Given the description of an element on the screen output the (x, y) to click on. 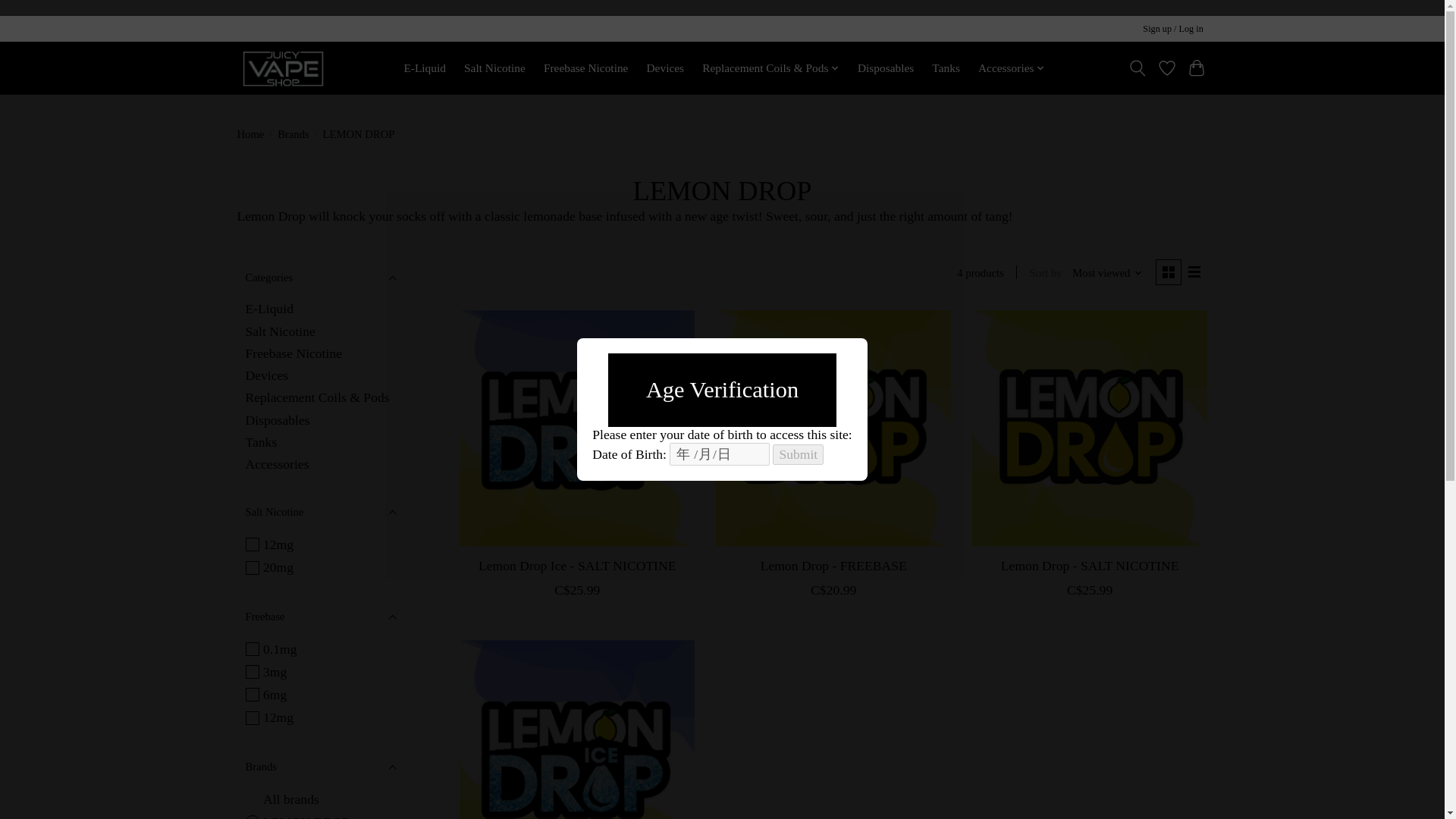
Salt Nicotine (494, 67)
E-Liquid (424, 67)
My account (1173, 28)
E-Liquid (270, 308)
Salt Nicotine (280, 331)
Home (249, 133)
LEMON DROP Lemon Drop Ice - FREEBASE (577, 729)
Devices (267, 375)
Accessories (1010, 67)
LEMON DROP Lemon Drop - SALT NICOTINE (1089, 427)
